Given the description of an element on the screen output the (x, y) to click on. 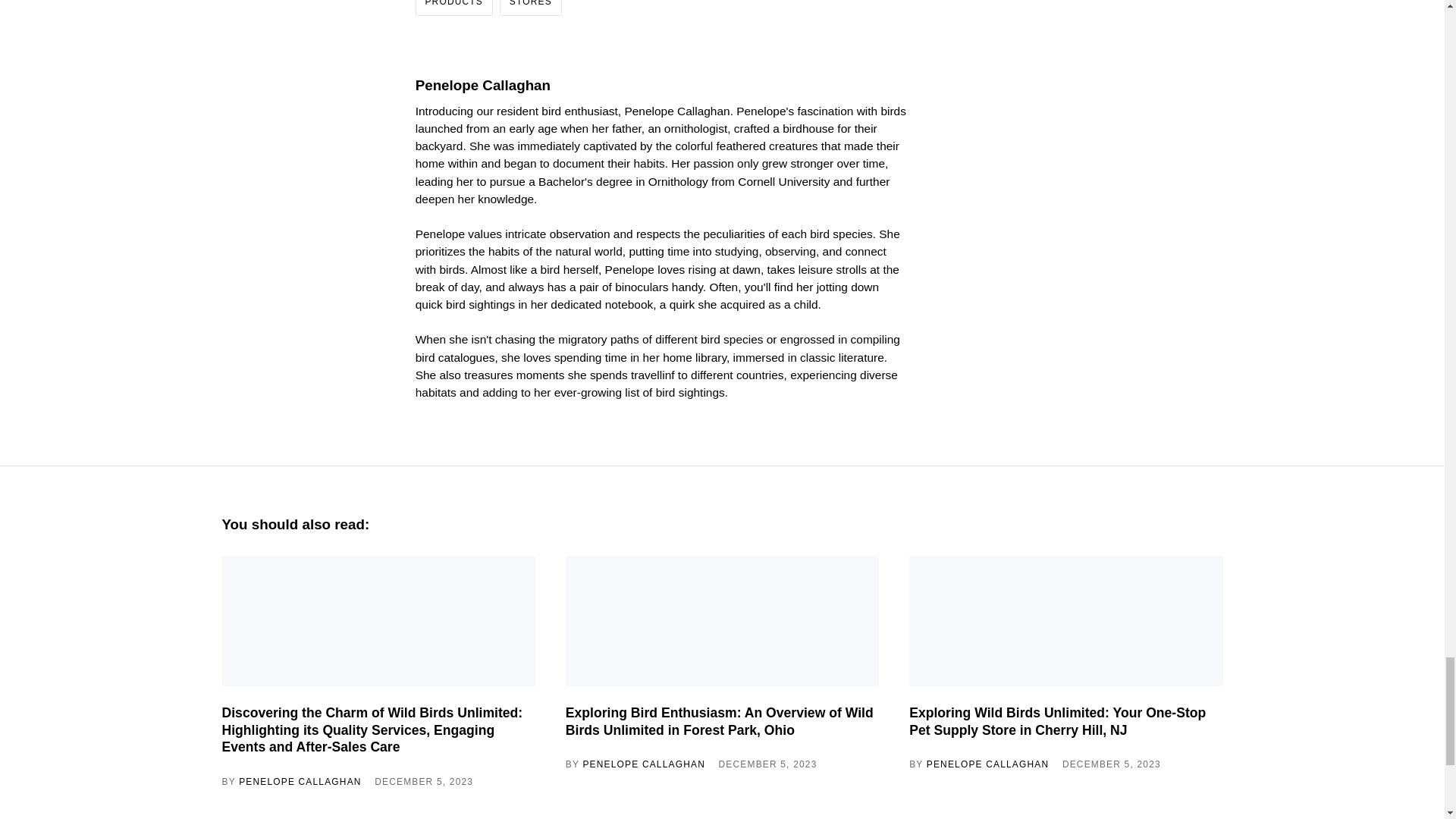
PENELOPE CALLAGHAN (643, 764)
PENELOPE CALLAGHAN (299, 781)
Penelope Callaghan (482, 84)
PRODUCTS (453, 7)
PENELOPE CALLAGHAN (987, 764)
STORES (529, 7)
